Given the description of an element on the screen output the (x, y) to click on. 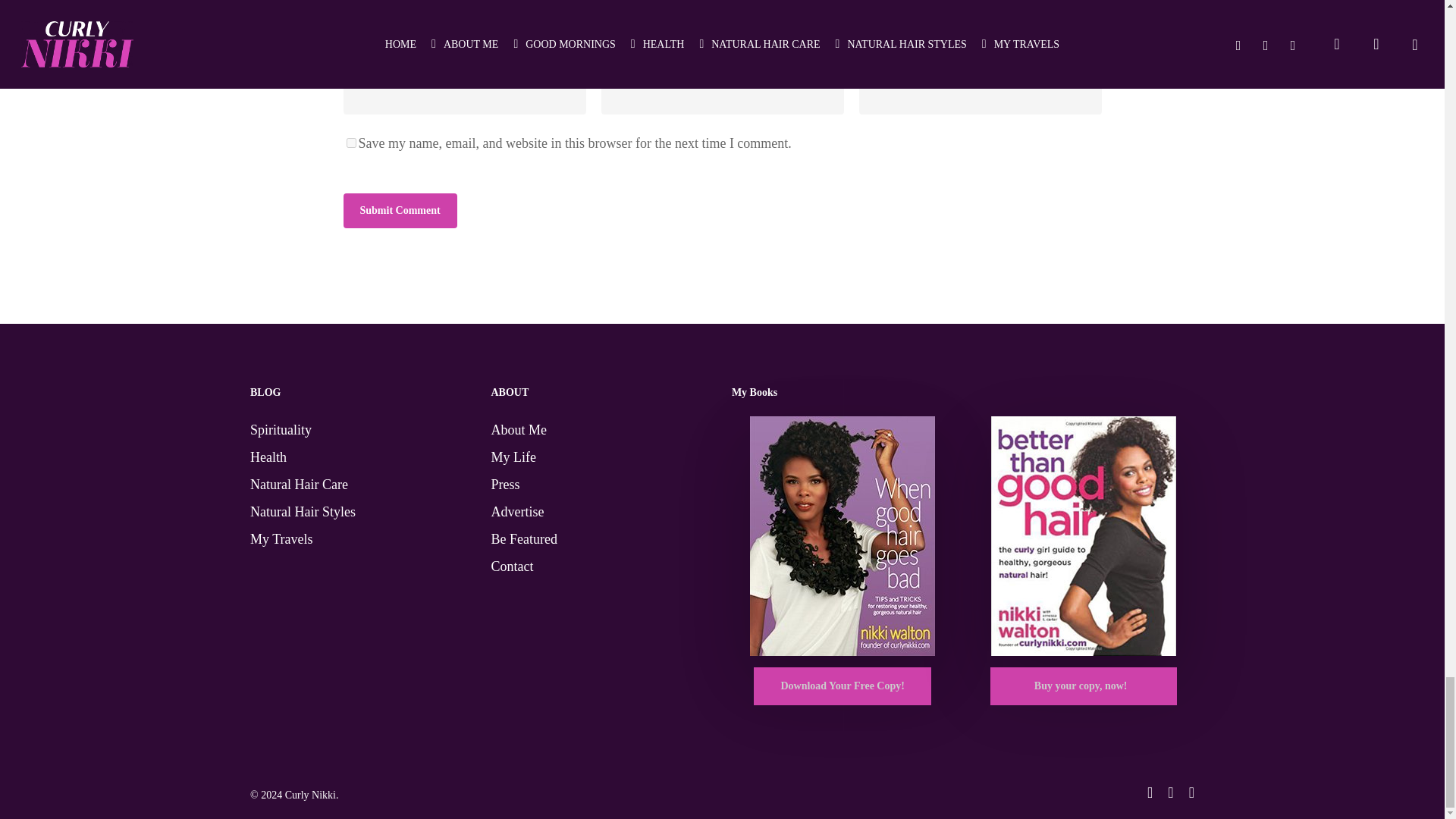
yes (350, 143)
Submit Comment (399, 210)
